Given the description of an element on the screen output the (x, y) to click on. 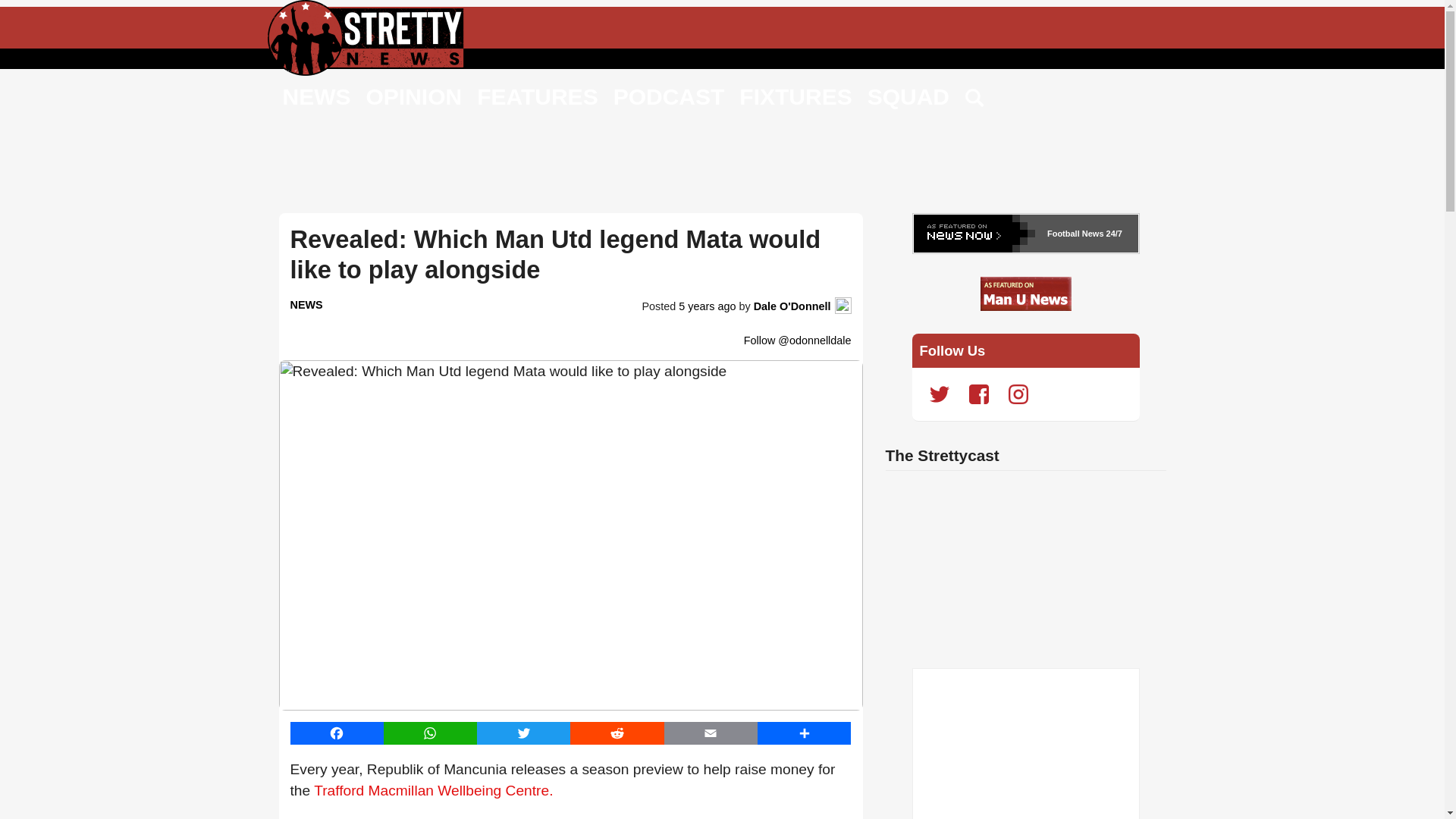
FIXTURES (795, 95)
Search (975, 98)
View more articles by Dale O'Donnell (792, 306)
5 years ago (706, 306)
Reddit (616, 732)
Facebook (335, 732)
WhatsApp (430, 732)
NEWS (316, 95)
WhatsApp (430, 732)
Dale O'Donnell (792, 306)
Twitter (523, 732)
SQUAD (908, 95)
OPINION (413, 95)
Reddit (616, 732)
Email (710, 732)
